Given the description of an element on the screen output the (x, y) to click on. 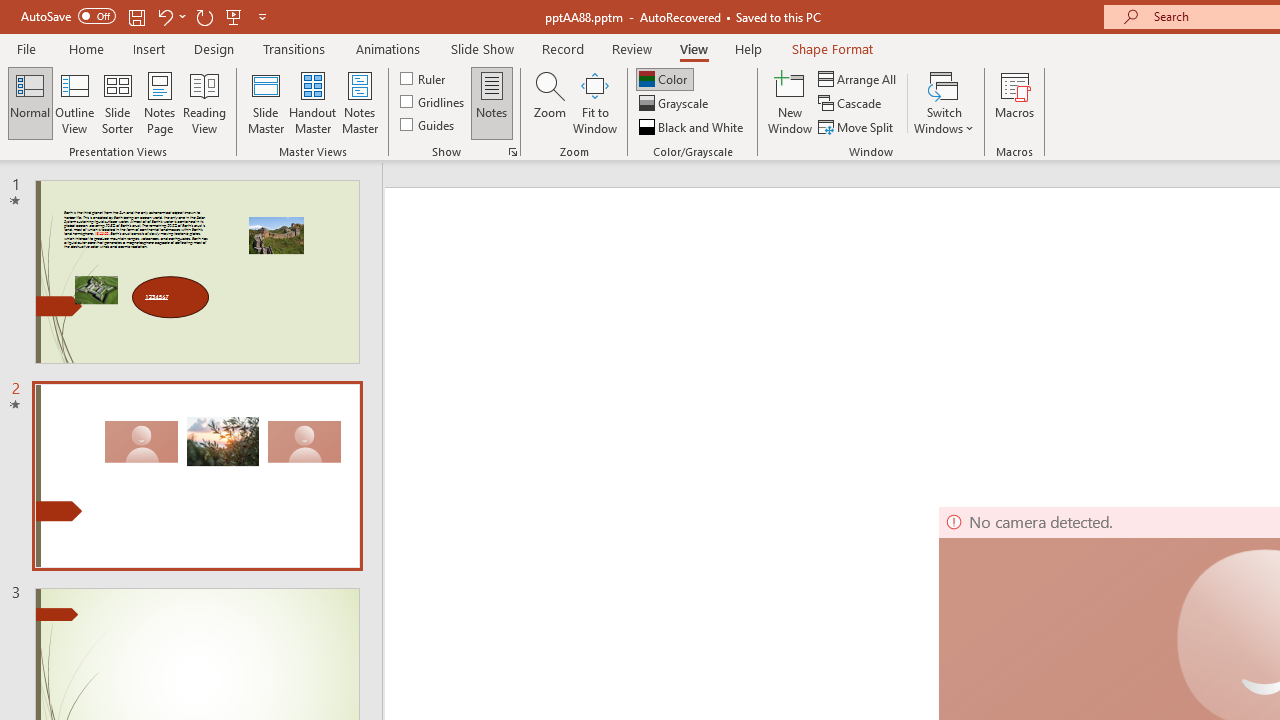
Notes Master (360, 102)
Black and White (693, 126)
Handout Master (312, 102)
Ruler (423, 78)
Grid Settings... (512, 151)
Switch Windows (943, 102)
Slide Master (265, 102)
Notes (492, 102)
